Given the description of an element on the screen output the (x, y) to click on. 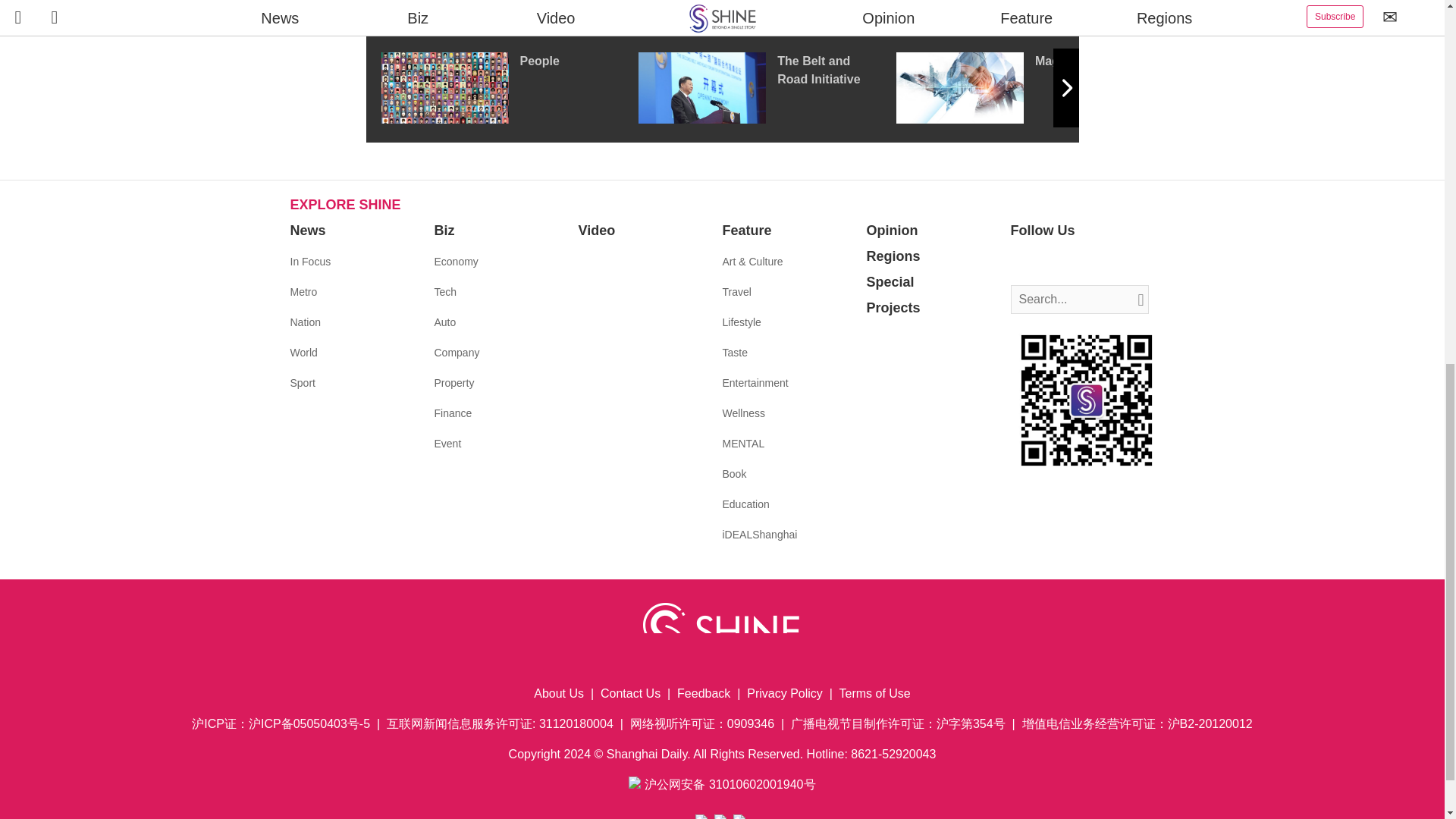
Follow us on Instagram (1067, 262)
MagHub (1024, 87)
People (508, 87)
Nation (304, 322)
Metro (303, 291)
Follow us on Youtube (1090, 262)
In Focus (309, 261)
World (303, 352)
News (306, 230)
Follow us on Facebook (1021, 262)
